Given the description of an element on the screen output the (x, y) to click on. 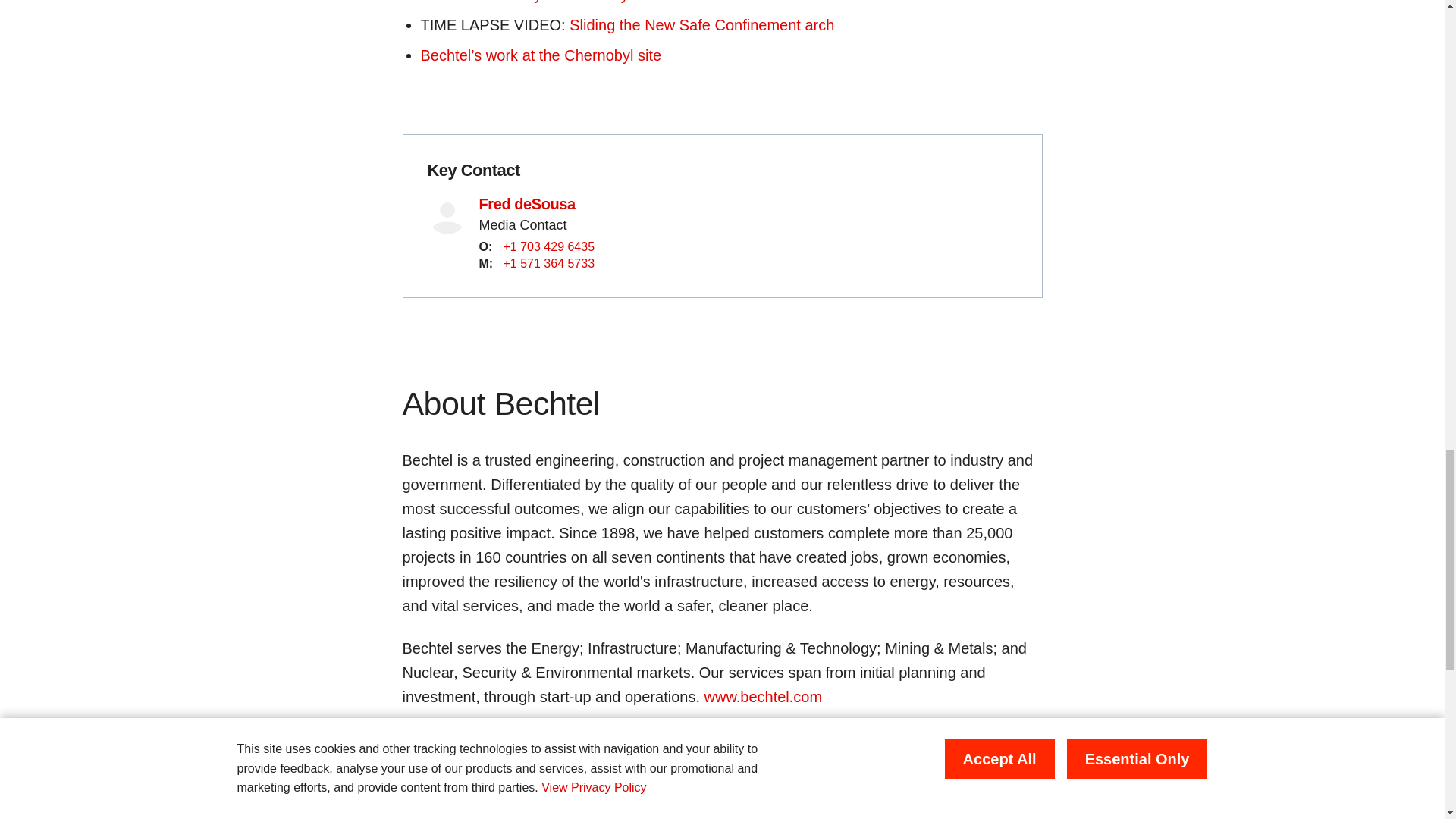
Click for RSS (420, 756)
